Given the description of an element on the screen output the (x, y) to click on. 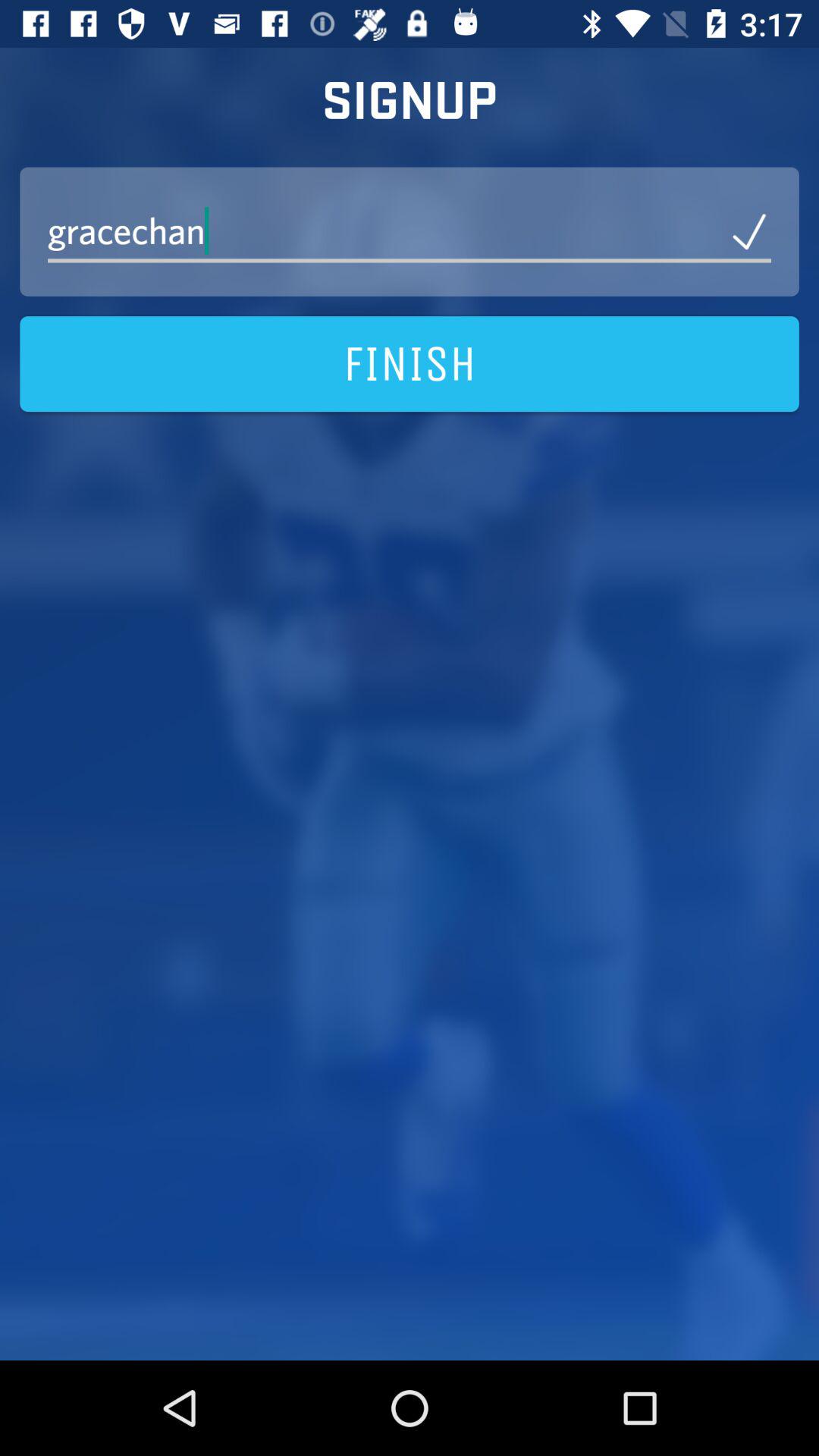
click finish item (409, 363)
